Given the description of an element on the screen output the (x, y) to click on. 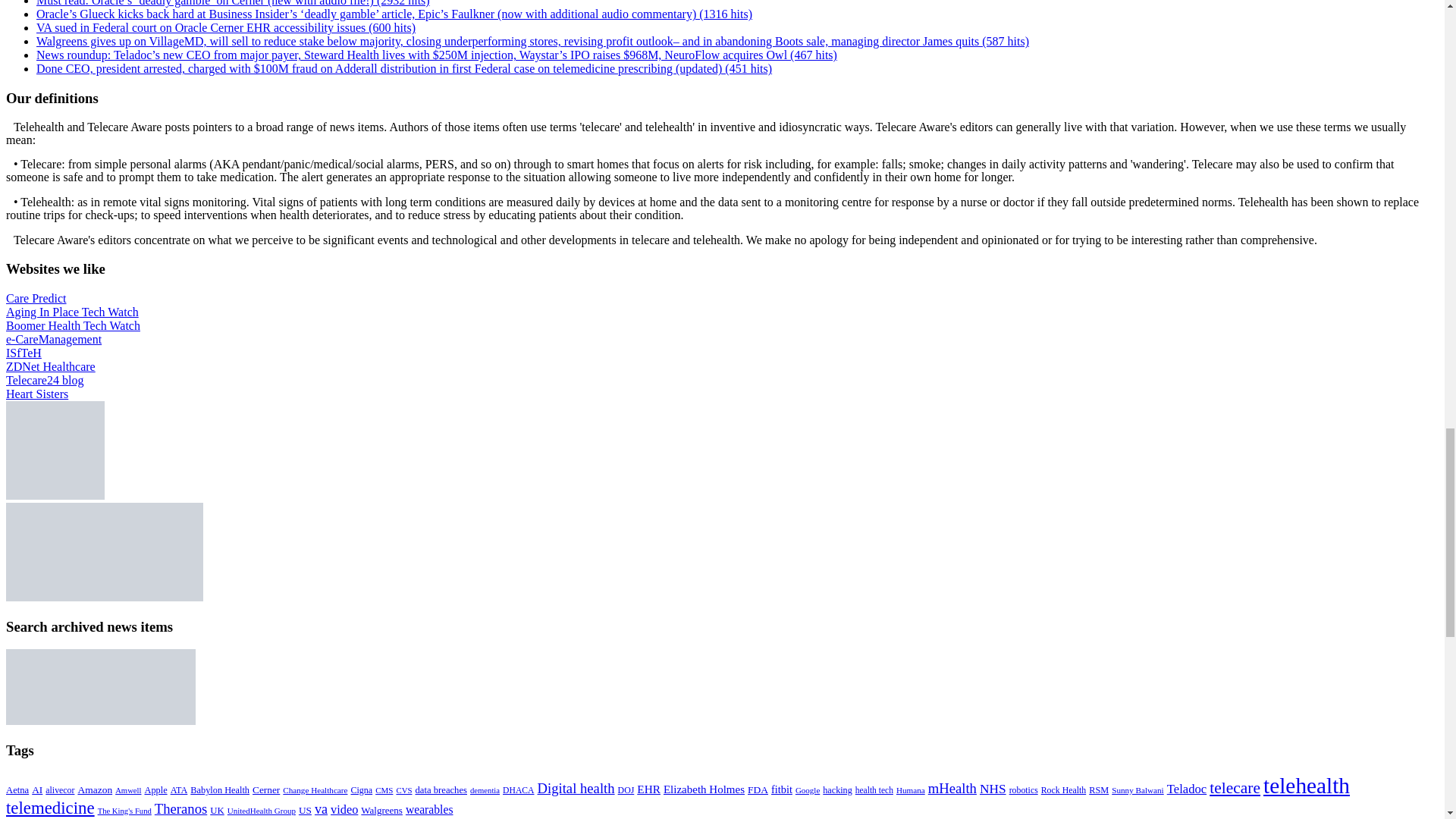
Care Predict (35, 297)
Heart Sisters (36, 393)
e-CareManagement (53, 338)
telecare24 blog (43, 379)
Laurie Orlov's Aging In Place Tech Watch (71, 311)
ZDNet Healthcare (50, 366)
Boomer Health Tech Watch (72, 325)
ISfTeH (23, 352)
